Given the description of an element on the screen output the (x, y) to click on. 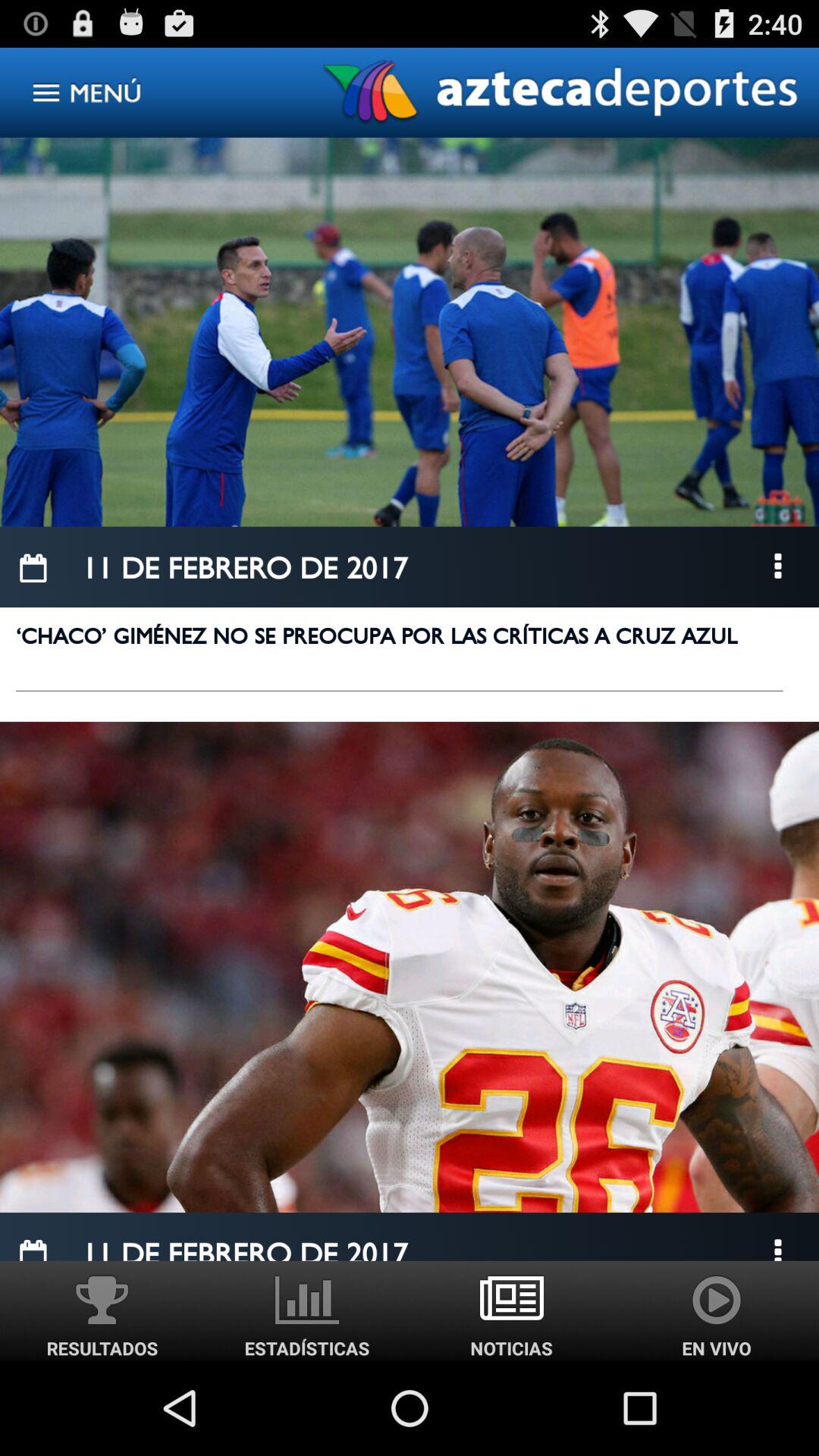
click on noticias image option (511, 1309)
select the right side icon adjacent to resultados (306, 1309)
click options (778, 567)
